Given the description of an element on the screen output the (x, y) to click on. 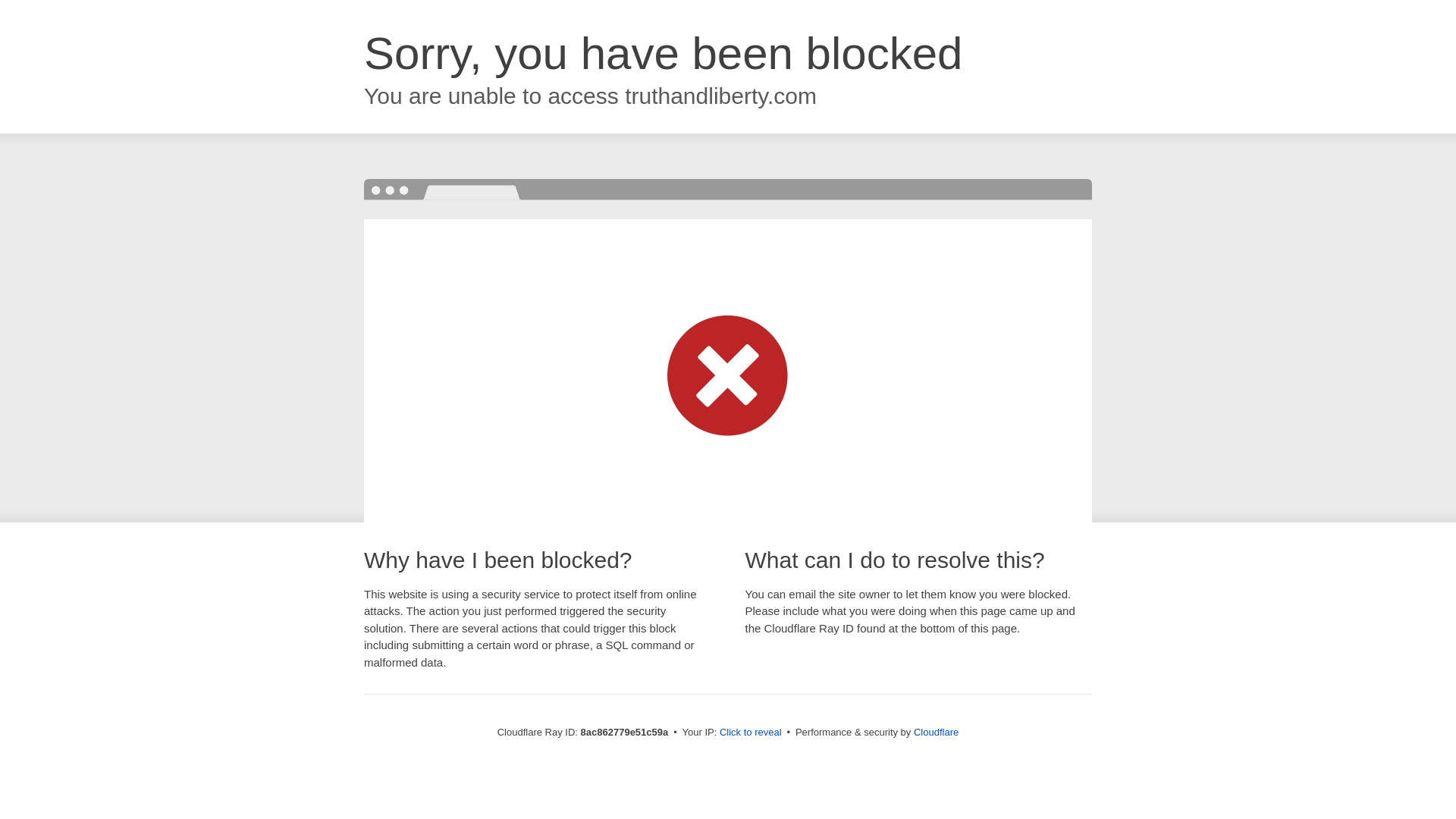
Click to reveal (750, 732)
Cloudflare (936, 731)
